Given the description of an element on the screen output the (x, y) to click on. 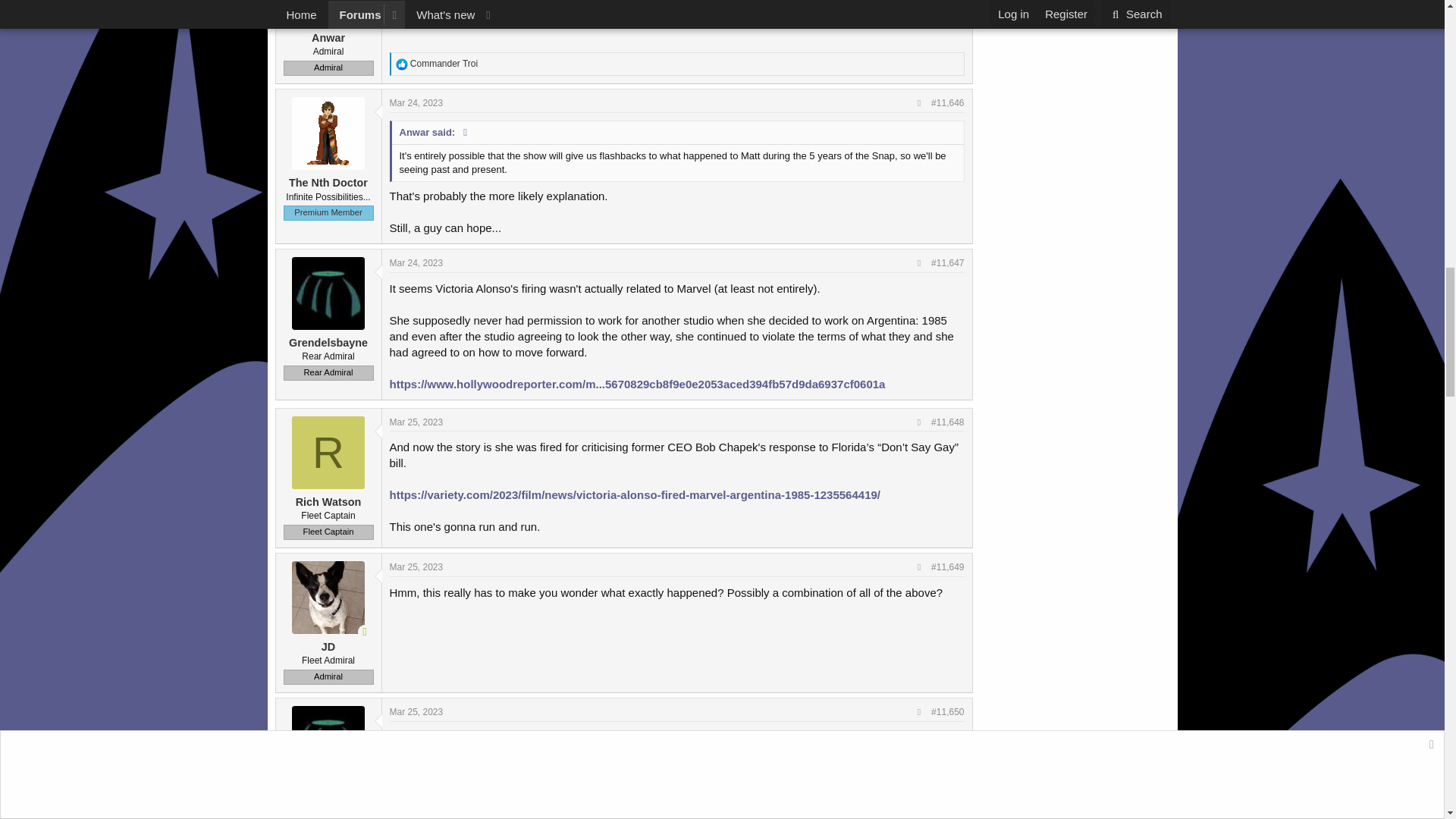
Like (401, 64)
